Given the description of an element on the screen output the (x, y) to click on. 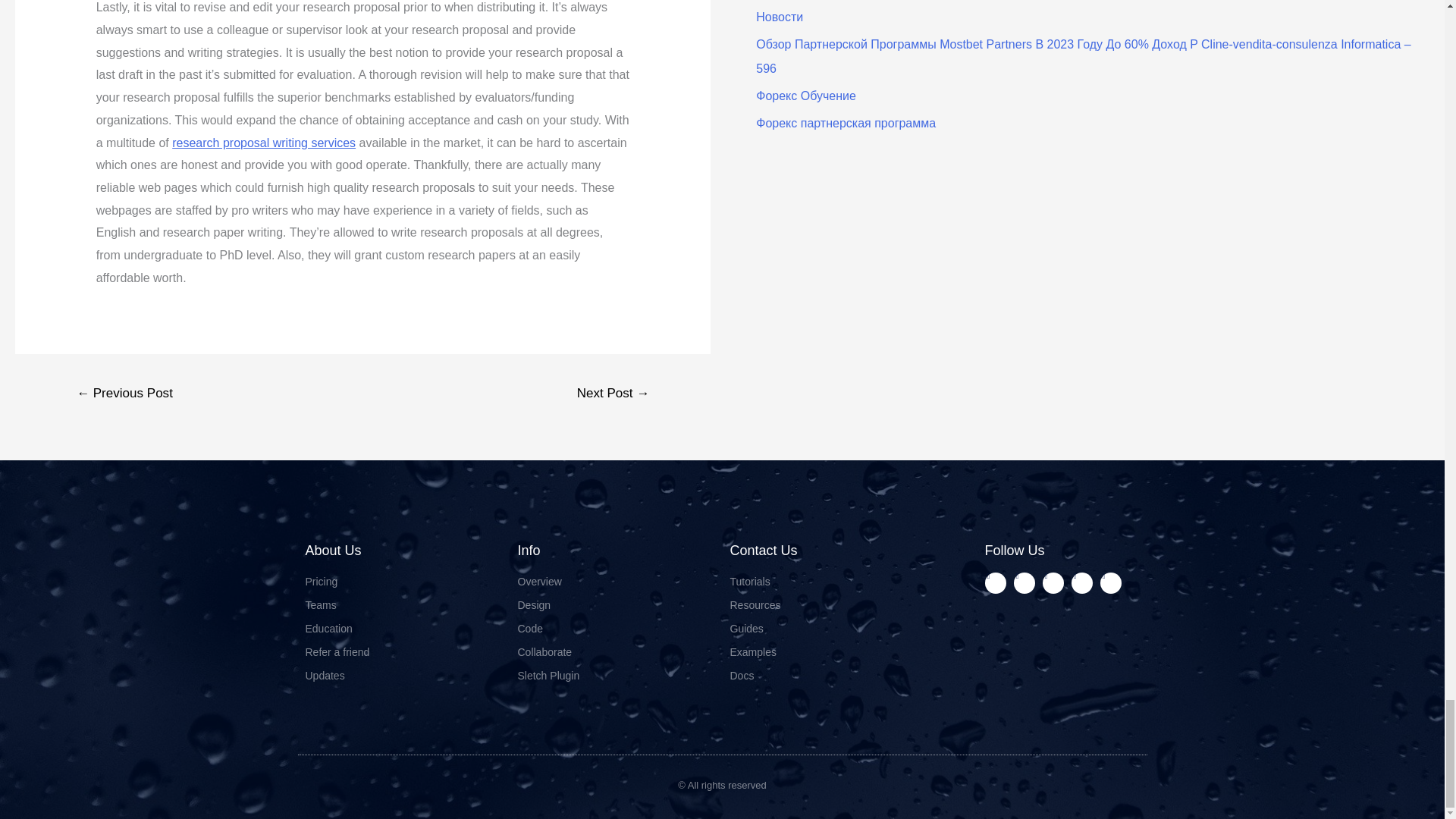
research proposal writing services (263, 142)
